Given the description of an element on the screen output the (x, y) to click on. 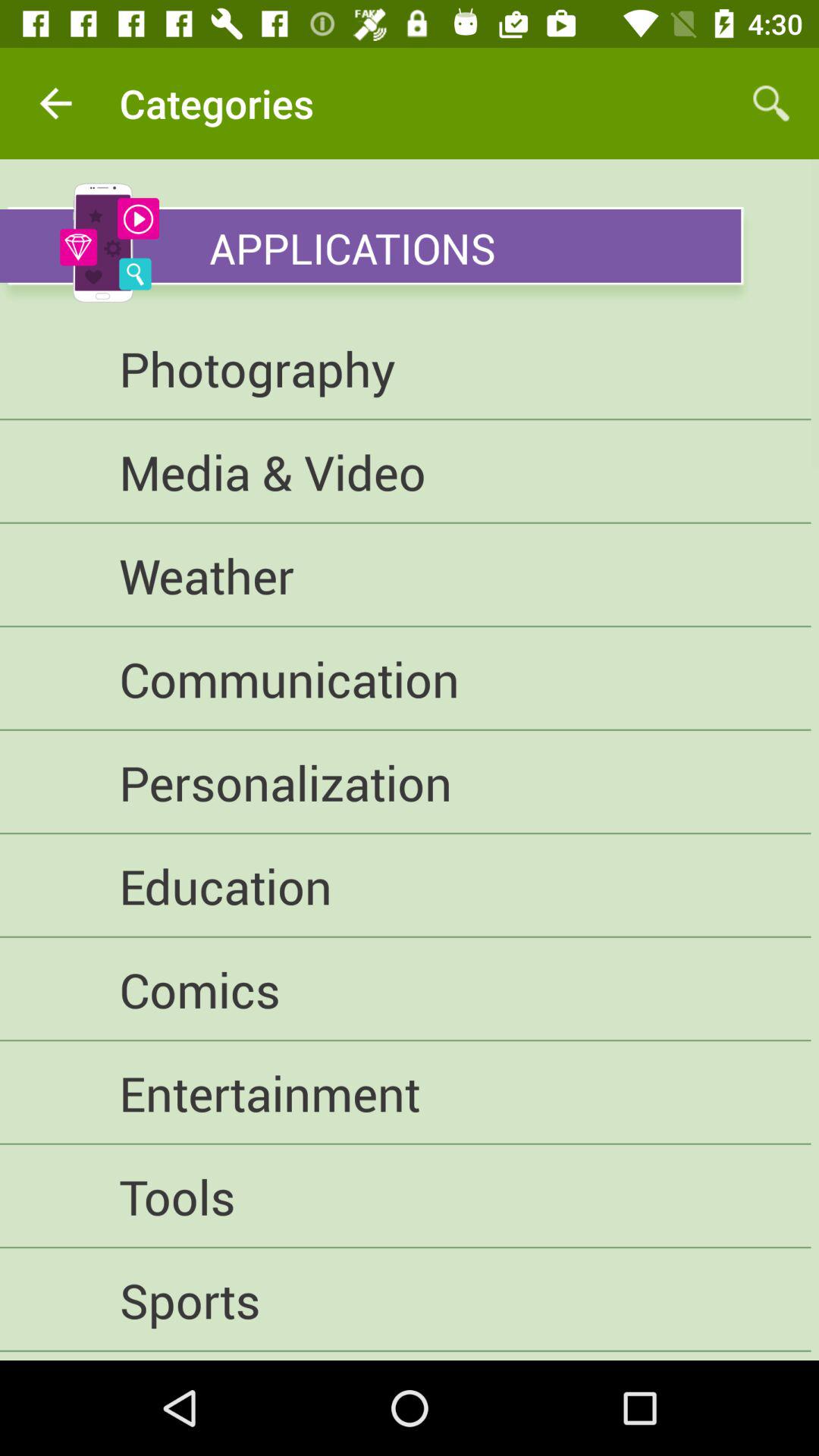
open the app to the right of the categories app (771, 103)
